Given the description of an element on the screen output the (x, y) to click on. 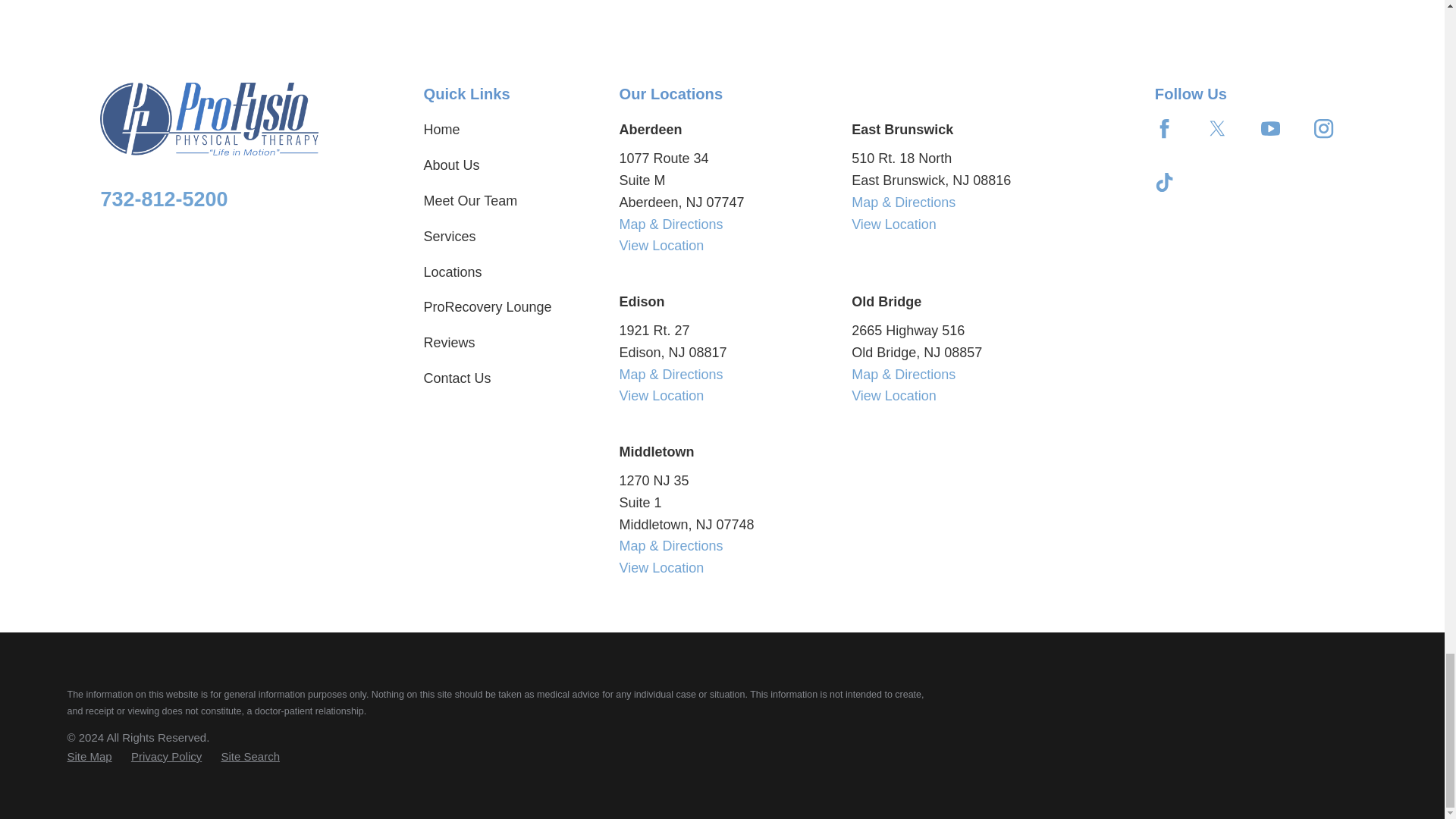
Twitter (1217, 128)
Home (209, 118)
Facebook (1163, 128)
